Given the description of an element on the screen output the (x, y) to click on. 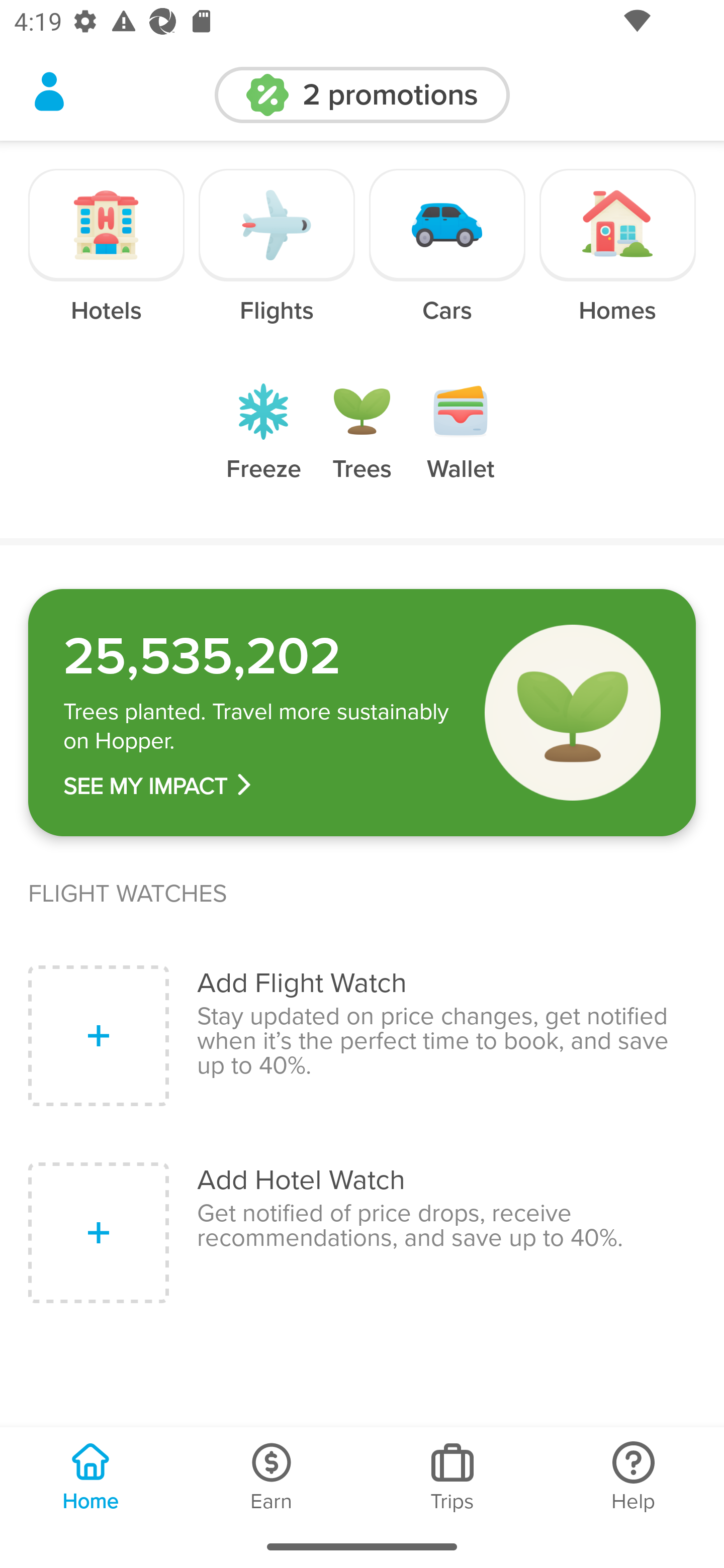
‍2 promotions (362, 95)
Hotels (106, 260)
Flights (276, 260)
Cars (447, 260)
Homes (617, 260)
Freeze (263, 446)
Trees (361, 446)
Wallet (460, 446)
‍25,535,202 (259, 656)
‍Trees planted. Travel more sustainably on Hopper. (259, 726)
‍SEE MY IMPACT ​ (259, 786)
Earn (271, 1475)
Trips (452, 1475)
Help (633, 1475)
